Given the description of an element on the screen output the (x, y) to click on. 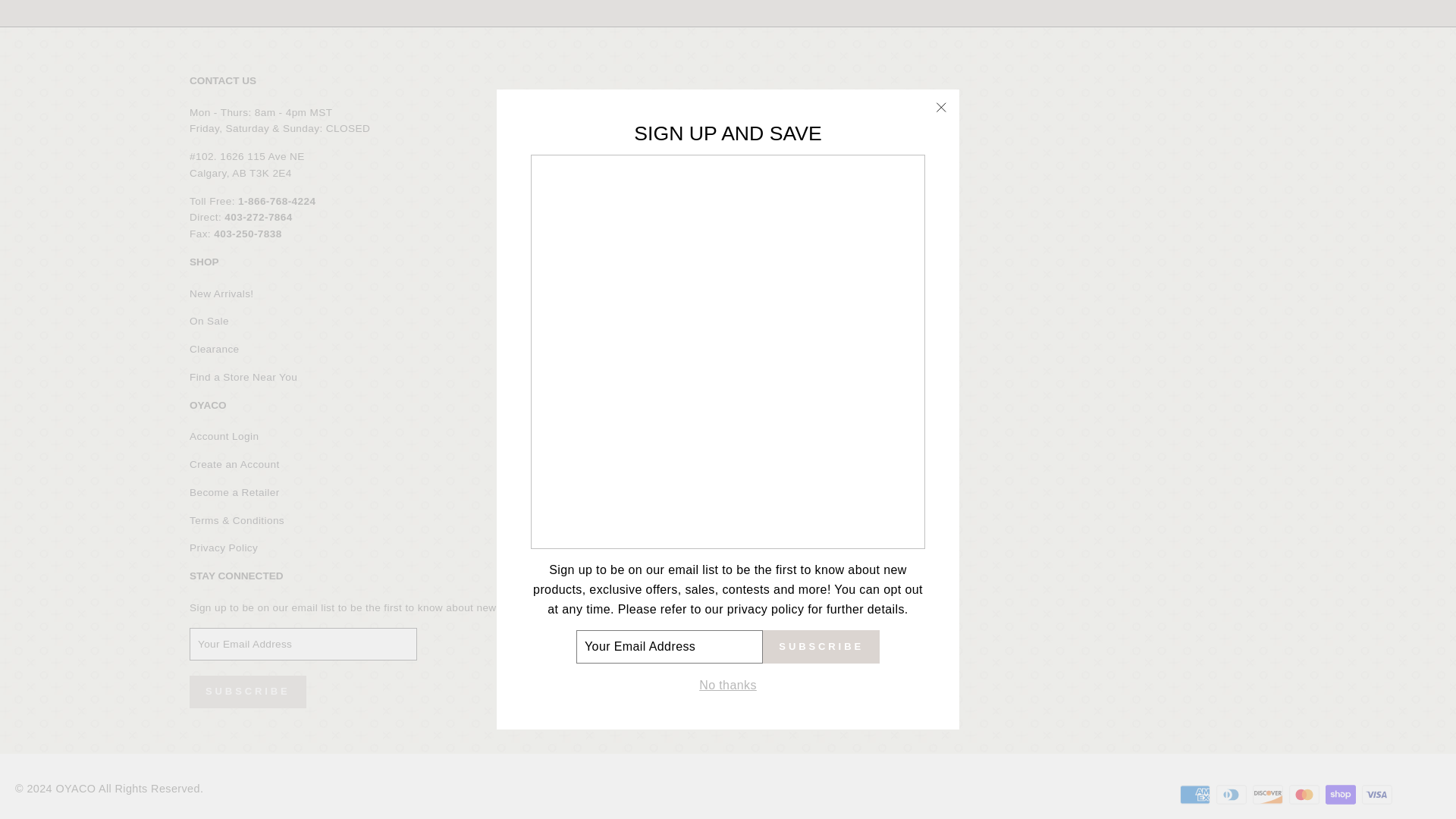
Shop Pay (1339, 794)
Mastercard (1303, 794)
Discover (1267, 794)
Diners Club (1230, 794)
Visa (1376, 794)
American Express (1194, 794)
